Given the description of an element on the screen output the (x, y) to click on. 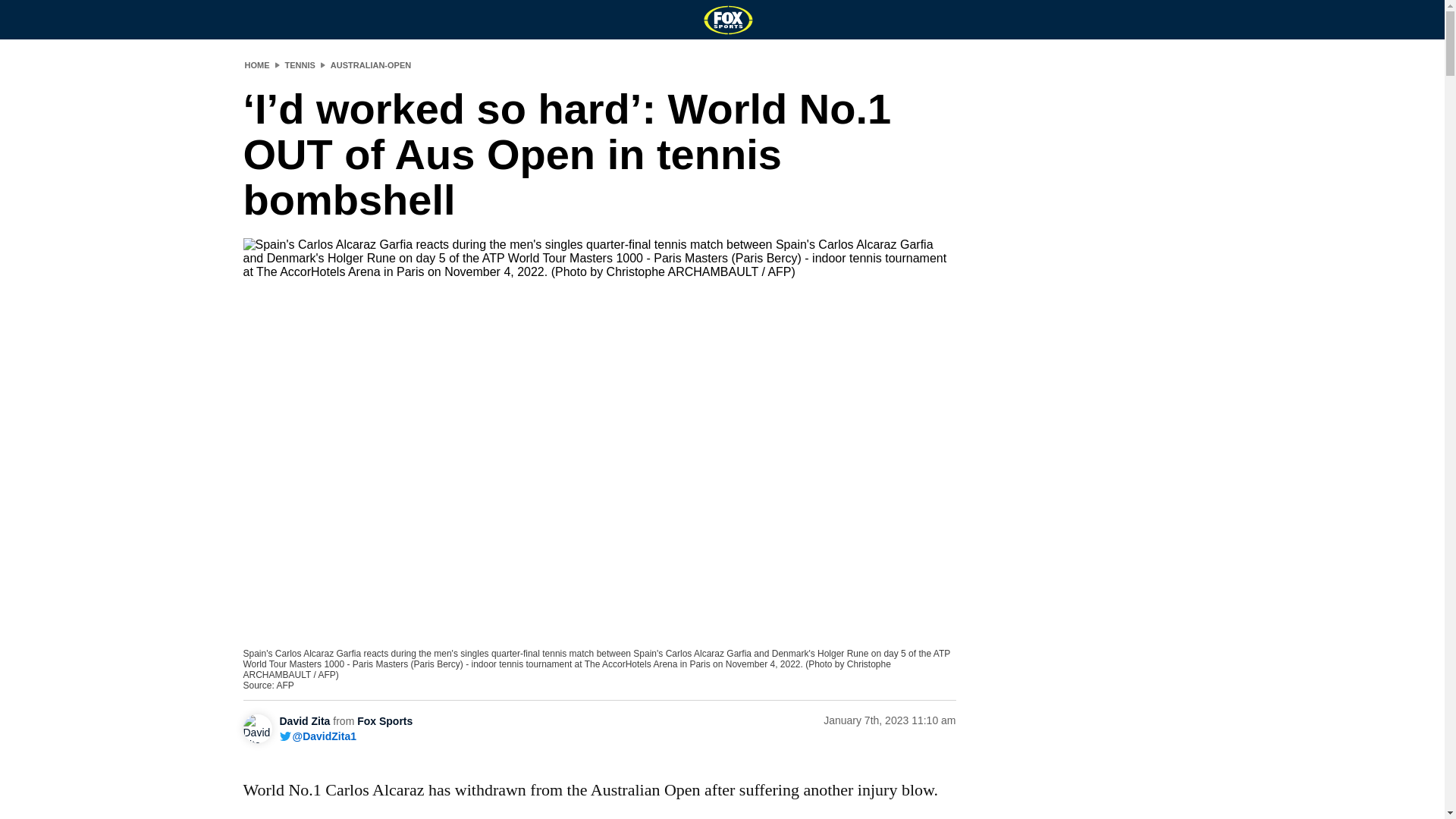
TENNIS (300, 64)
HOME (256, 64)
AUSTRALIAN-OPEN (370, 64)
